Given the description of an element on the screen output the (x, y) to click on. 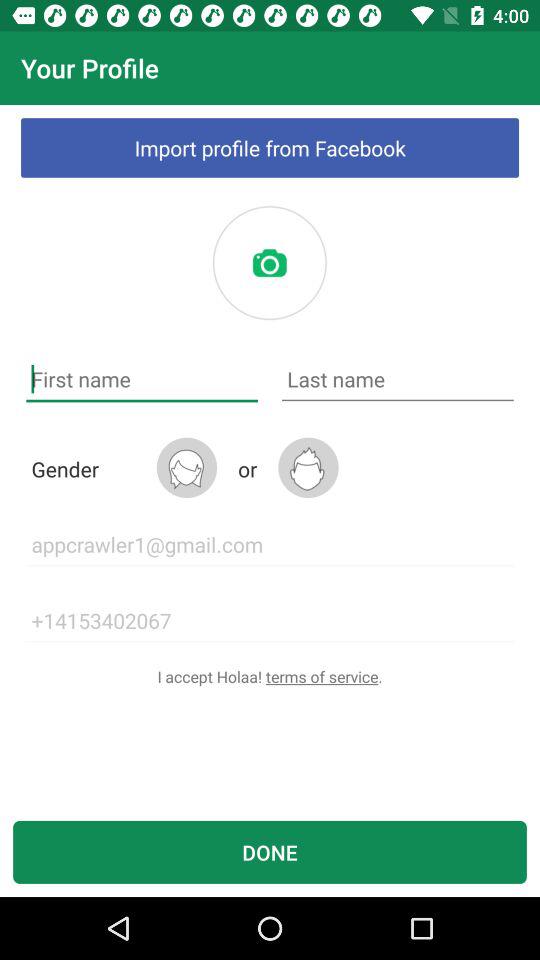
launch item on the right (397, 379)
